Given the description of an element on the screen output the (x, y) to click on. 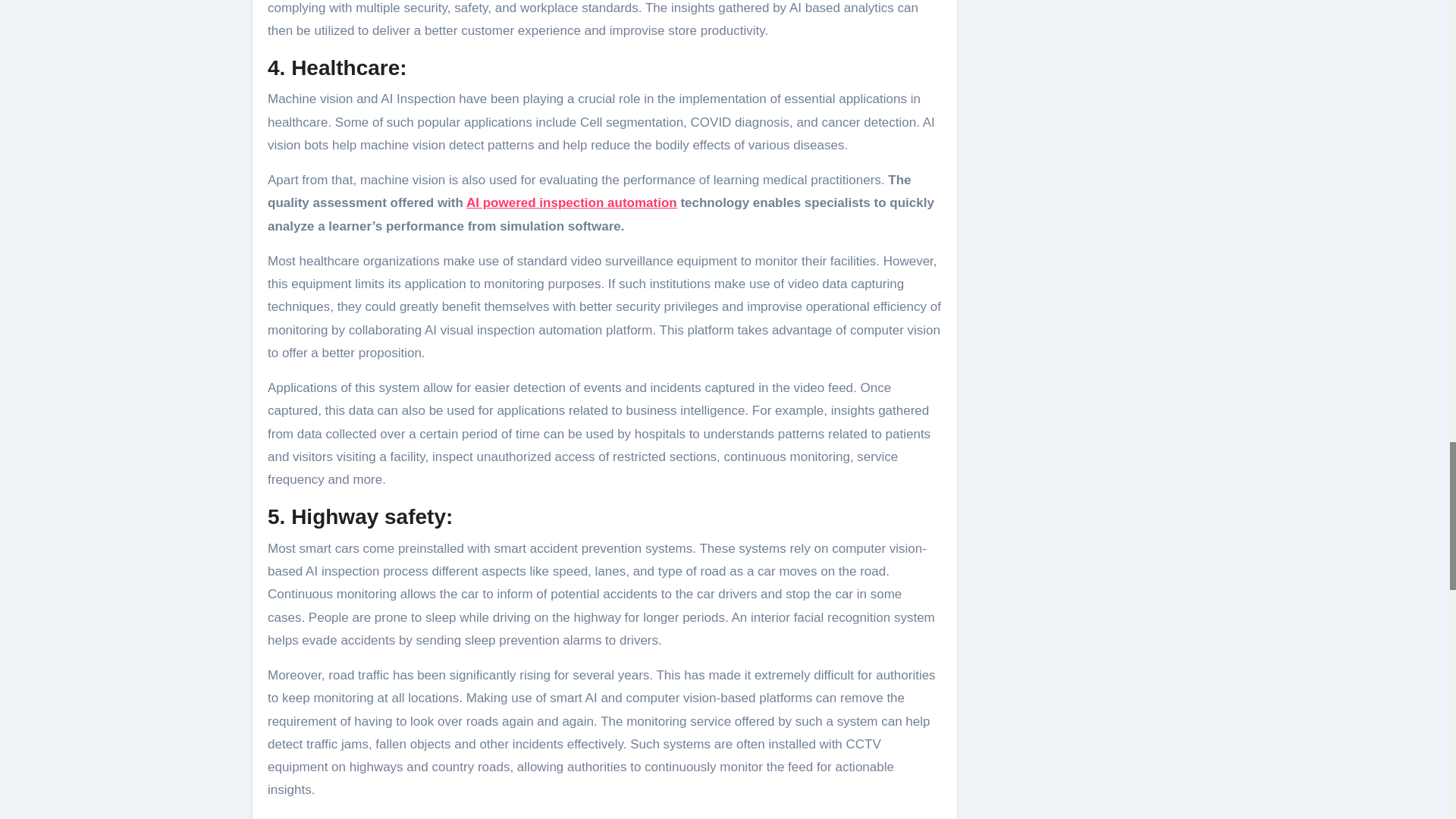
AI powered inspection automation (571, 202)
